Given the description of an element on the screen output the (x, y) to click on. 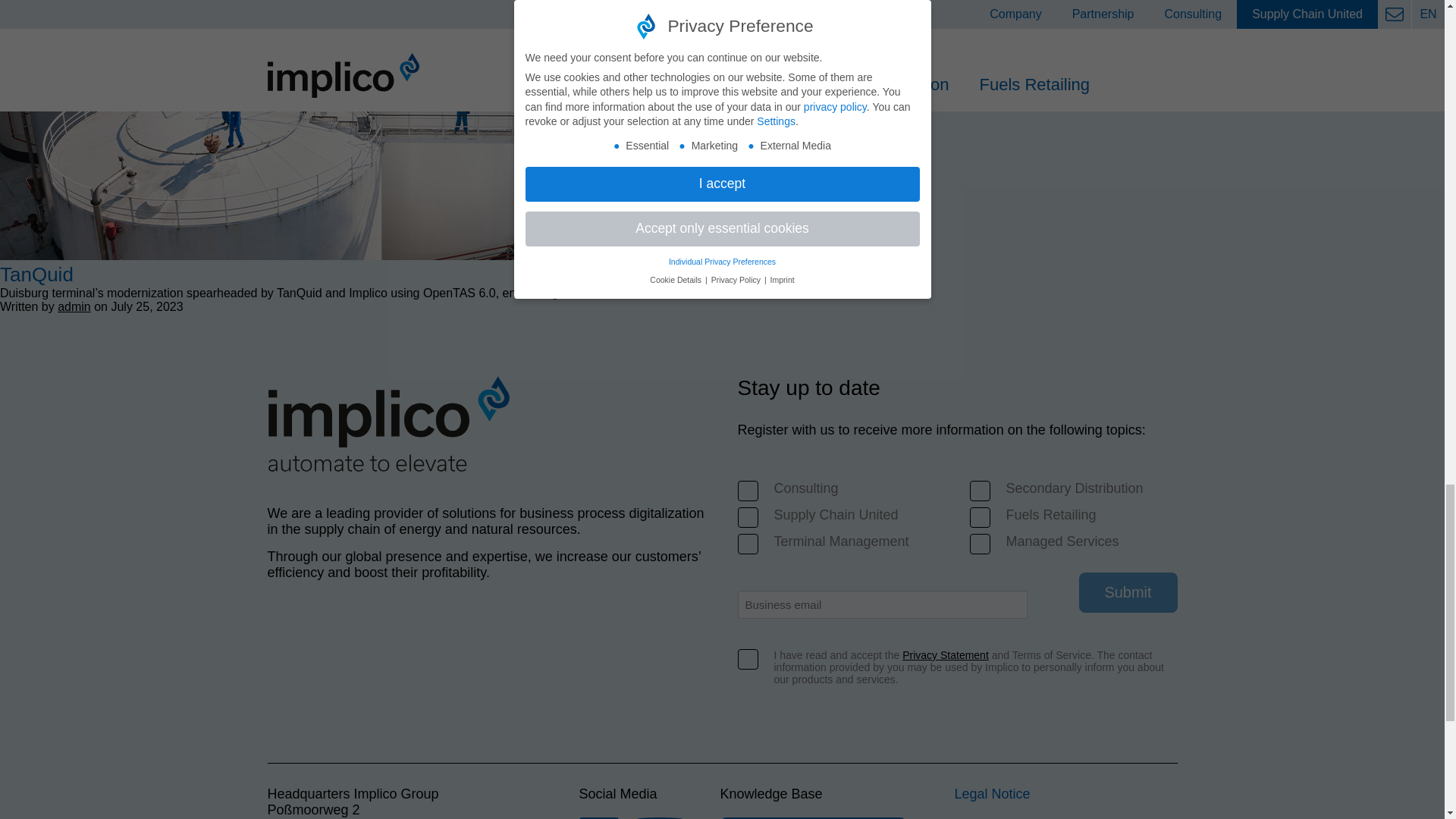
Permalink to TanQuid (37, 273)
TanQuid (339, 255)
Posts by admin (74, 306)
